Given the description of an element on the screen output the (x, y) to click on. 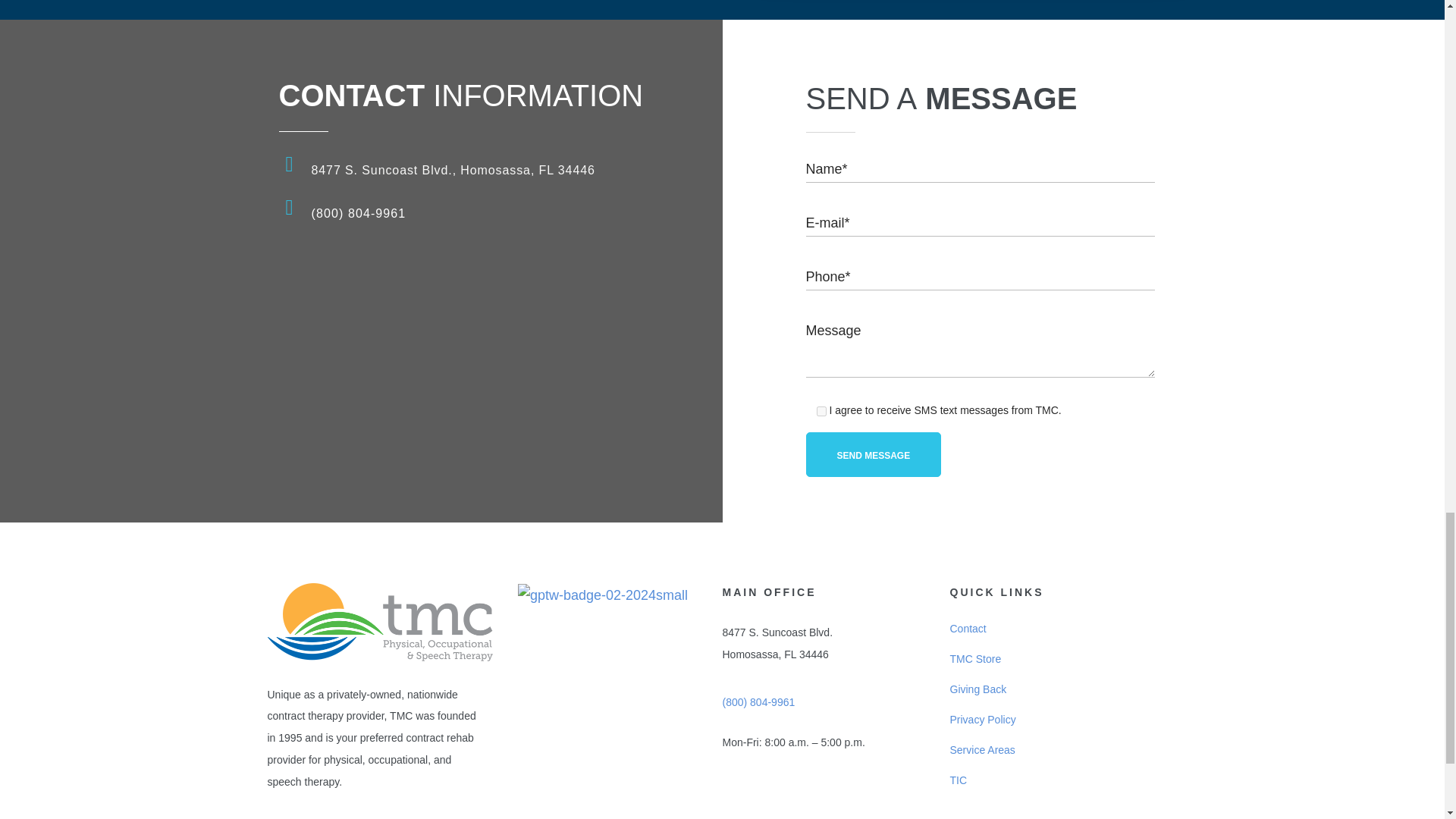
gptw-badge-02-2024small (602, 594)
Send Message (872, 454)
I agree to receive SMS text messages from TMC. (820, 411)
